Given the description of an element on the screen output the (x, y) to click on. 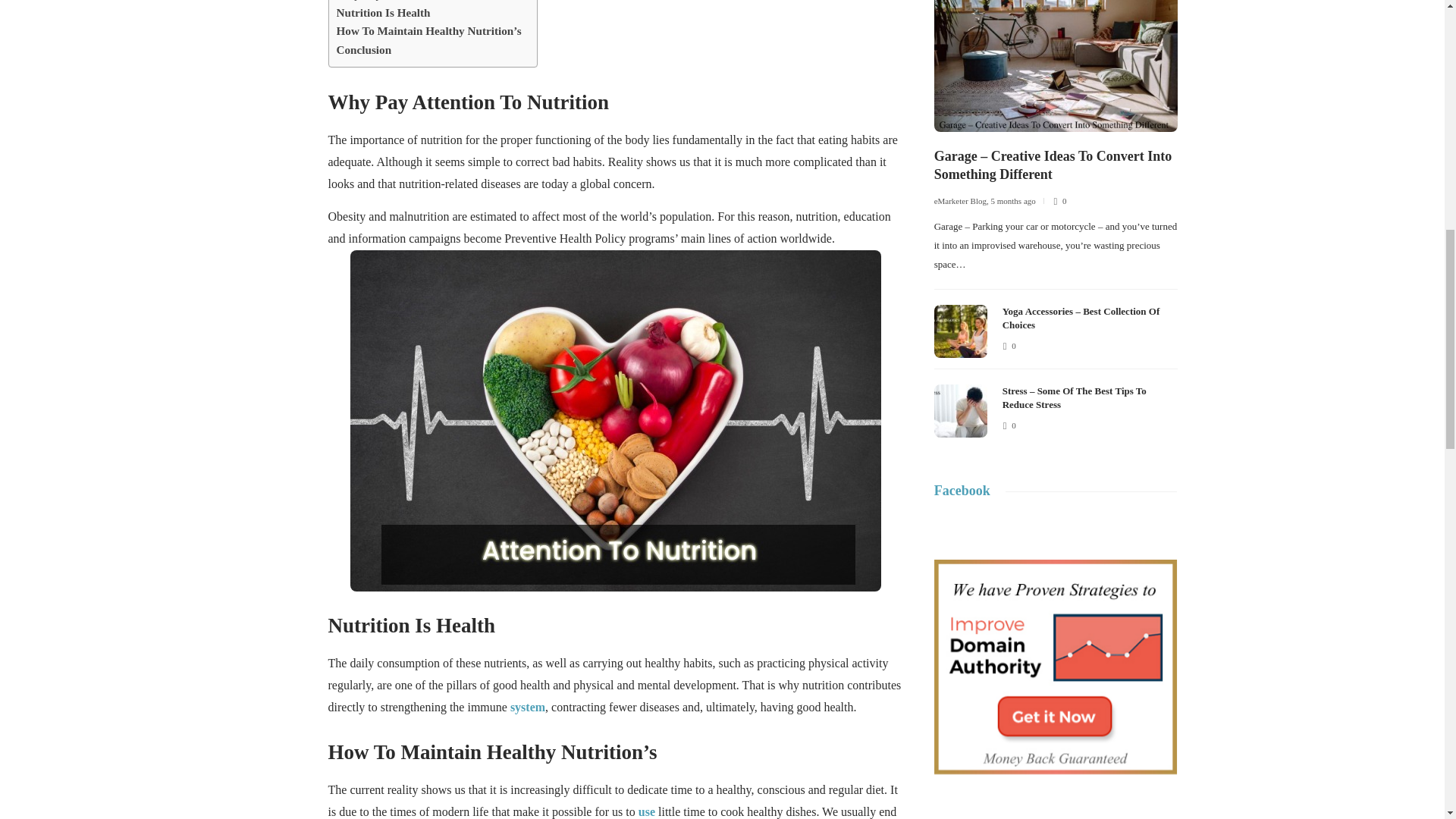
Why Pay Attention To Nutrition (415, 2)
Conclusion (363, 49)
Nutrition Is Health (383, 13)
